Given the description of an element on the screen output the (x, y) to click on. 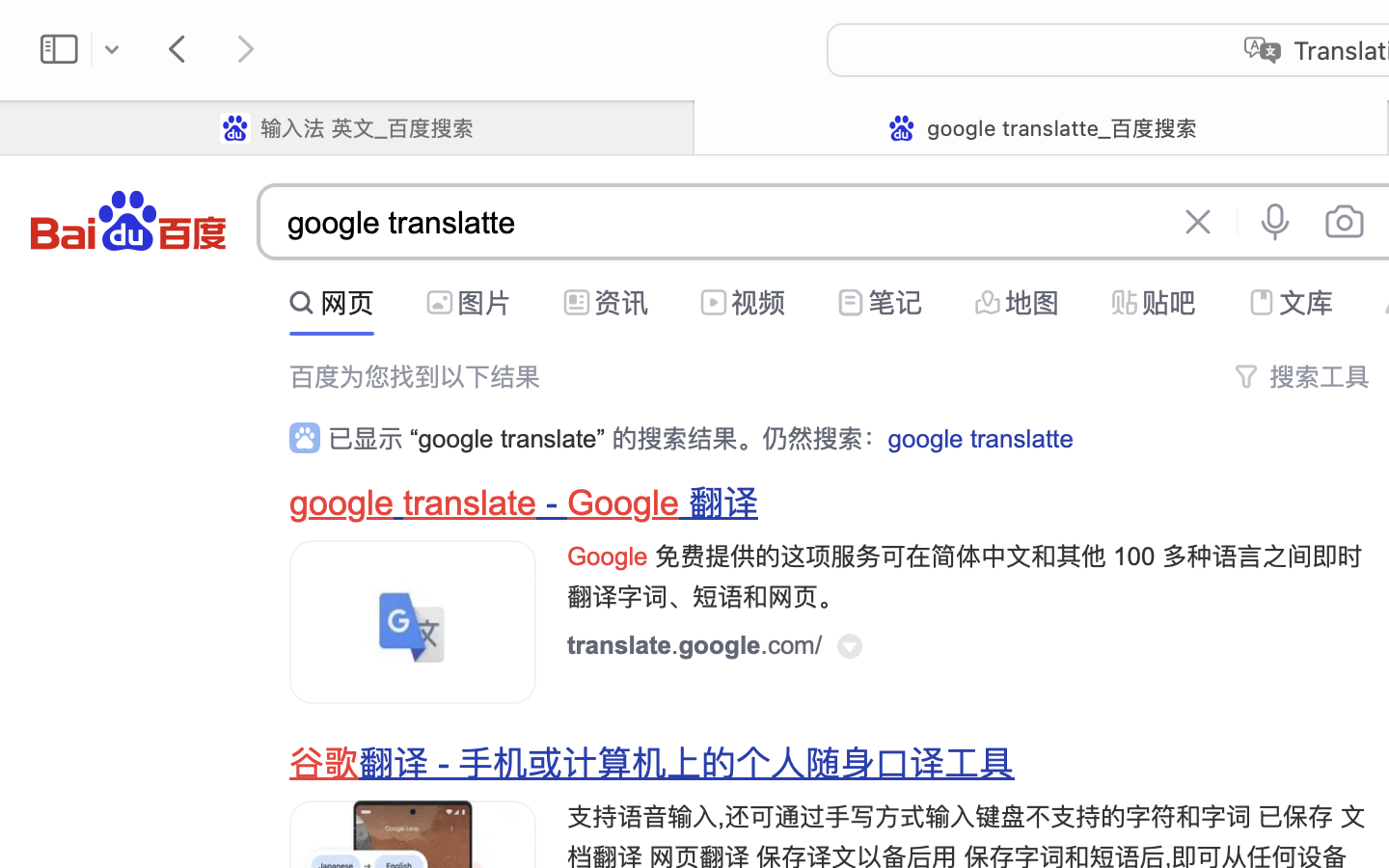
google translatte Element type: AXTextField (714, 223)
 Element type: AXStaticText (576, 302)
笔记 Element type: AXStaticText (895, 302)
百度为您找到以下结果 Element type: AXStaticText (414, 376)
 Element type: AXStaticText (883, 296)
